Given the description of an element on the screen output the (x, y) to click on. 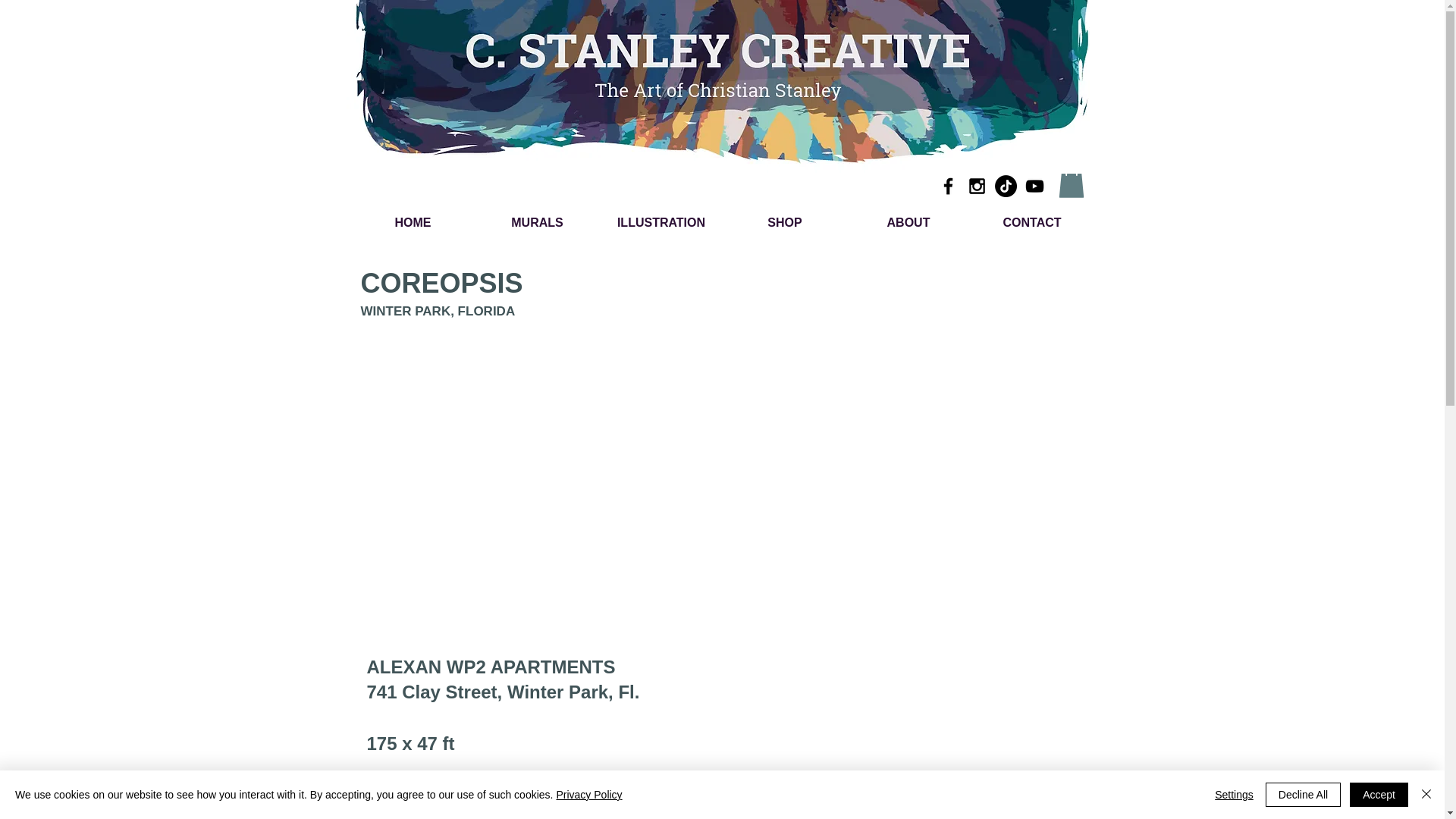
CONTACT (1032, 222)
Privacy Policy (588, 794)
Decline All (1302, 794)
SHOP (785, 222)
Accept (1378, 794)
MURALS (536, 222)
ABOUT (907, 222)
ILLUSTRATION (660, 222)
HOME (412, 222)
